Given the description of an element on the screen output the (x, y) to click on. 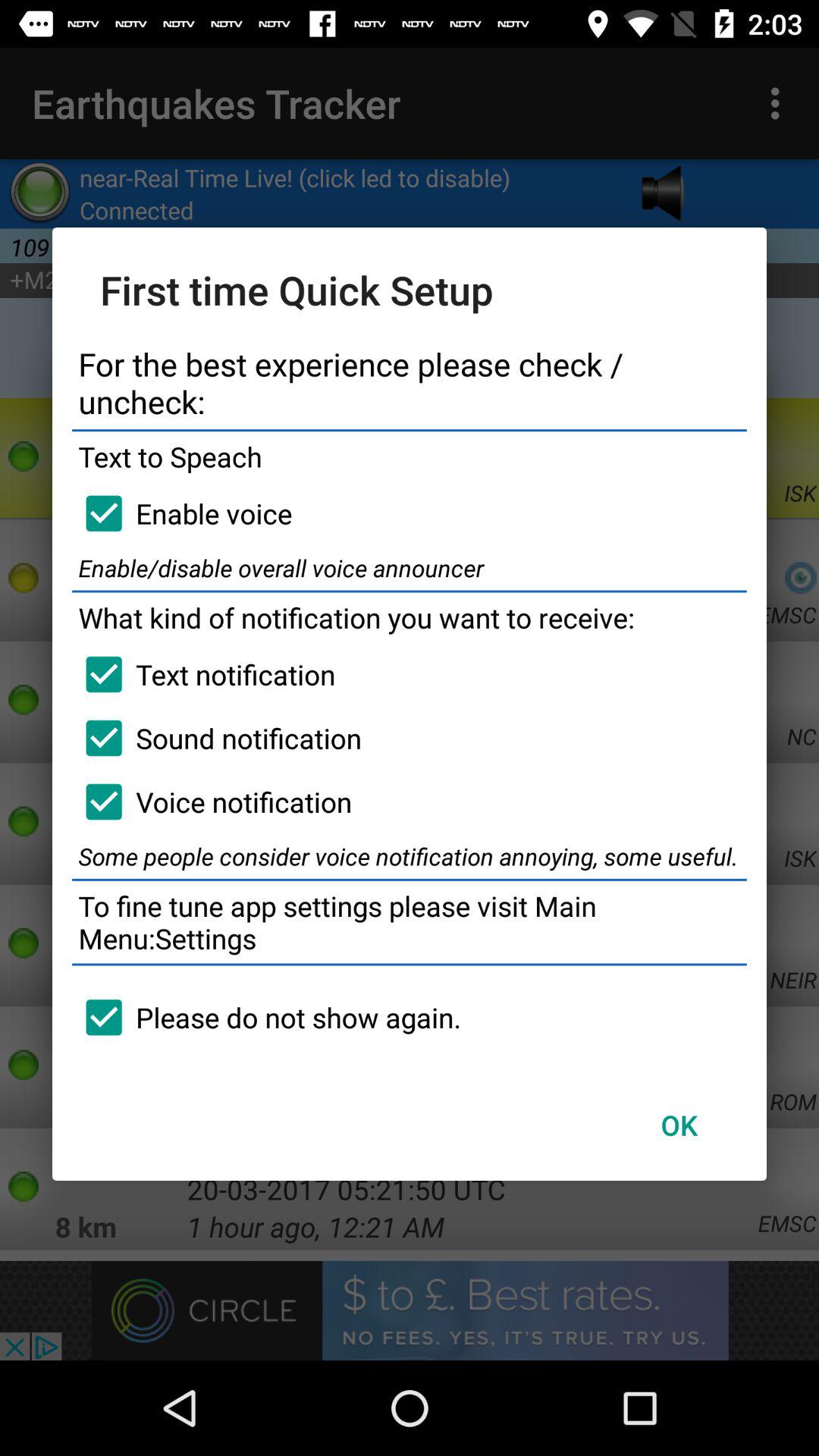
choose the sound notification icon (216, 738)
